Given the description of an element on the screen output the (x, y) to click on. 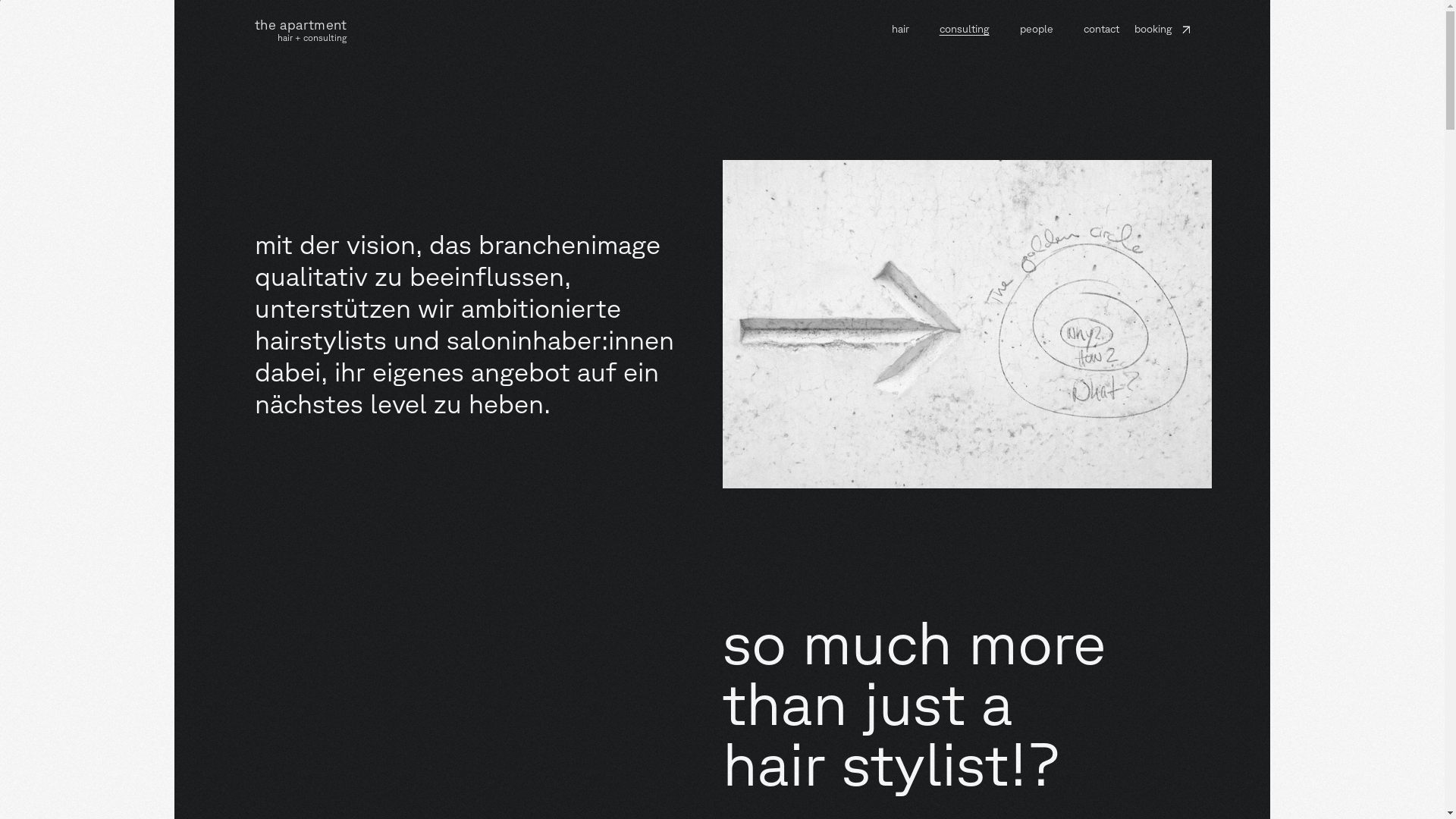
people Element type: text (1036, 28)
booking Element type: text (1161, 28)
contact Element type: text (1101, 28)
consulting Element type: text (964, 28)
the apartment
hair + consulting Element type: text (300, 29)
hair Element type: text (900, 28)
